Given the description of an element on the screen output the (x, y) to click on. 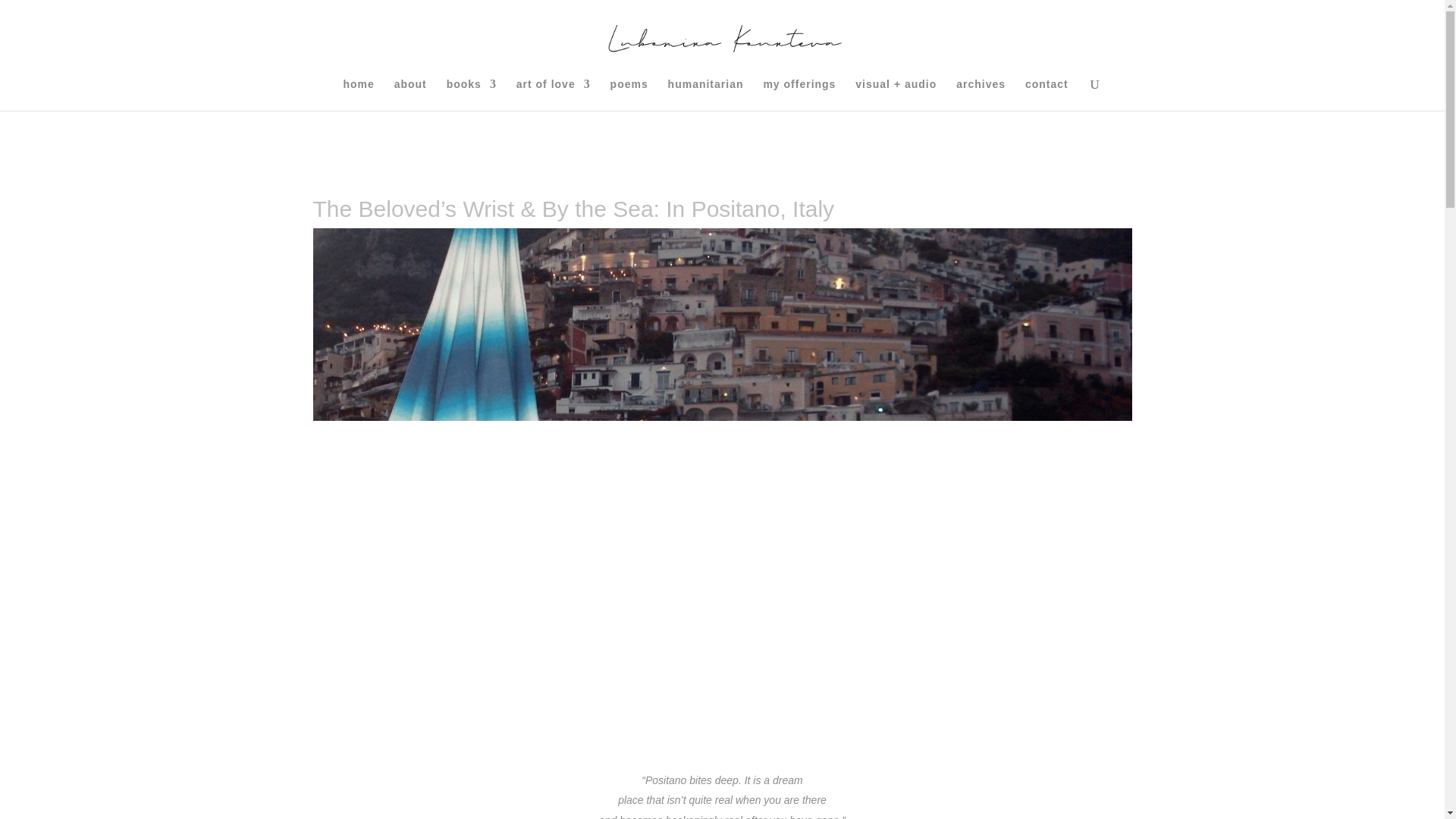
humanitarian (706, 94)
home (358, 94)
contact (1046, 94)
my offerings (798, 94)
about (410, 94)
poems (628, 94)
books (471, 94)
archives (981, 94)
art of love (553, 94)
